Given the description of an element on the screen output the (x, y) to click on. 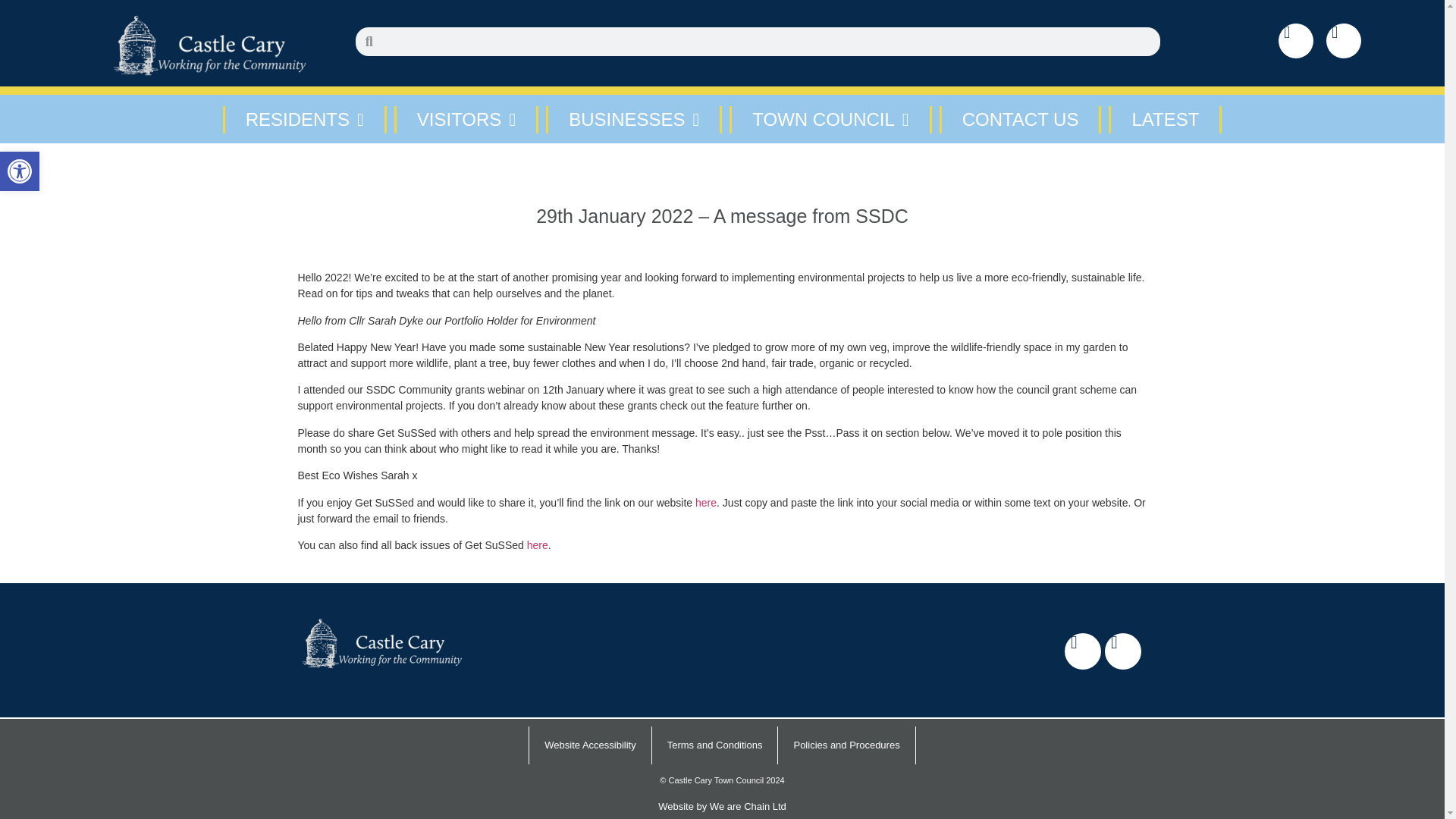
Accessibility Tools (19, 170)
BUSINESSES (634, 119)
Accessibility Tools (19, 170)
VISITORS (466, 119)
RESIDENTS (19, 170)
